Given the description of an element on the screen output the (x, y) to click on. 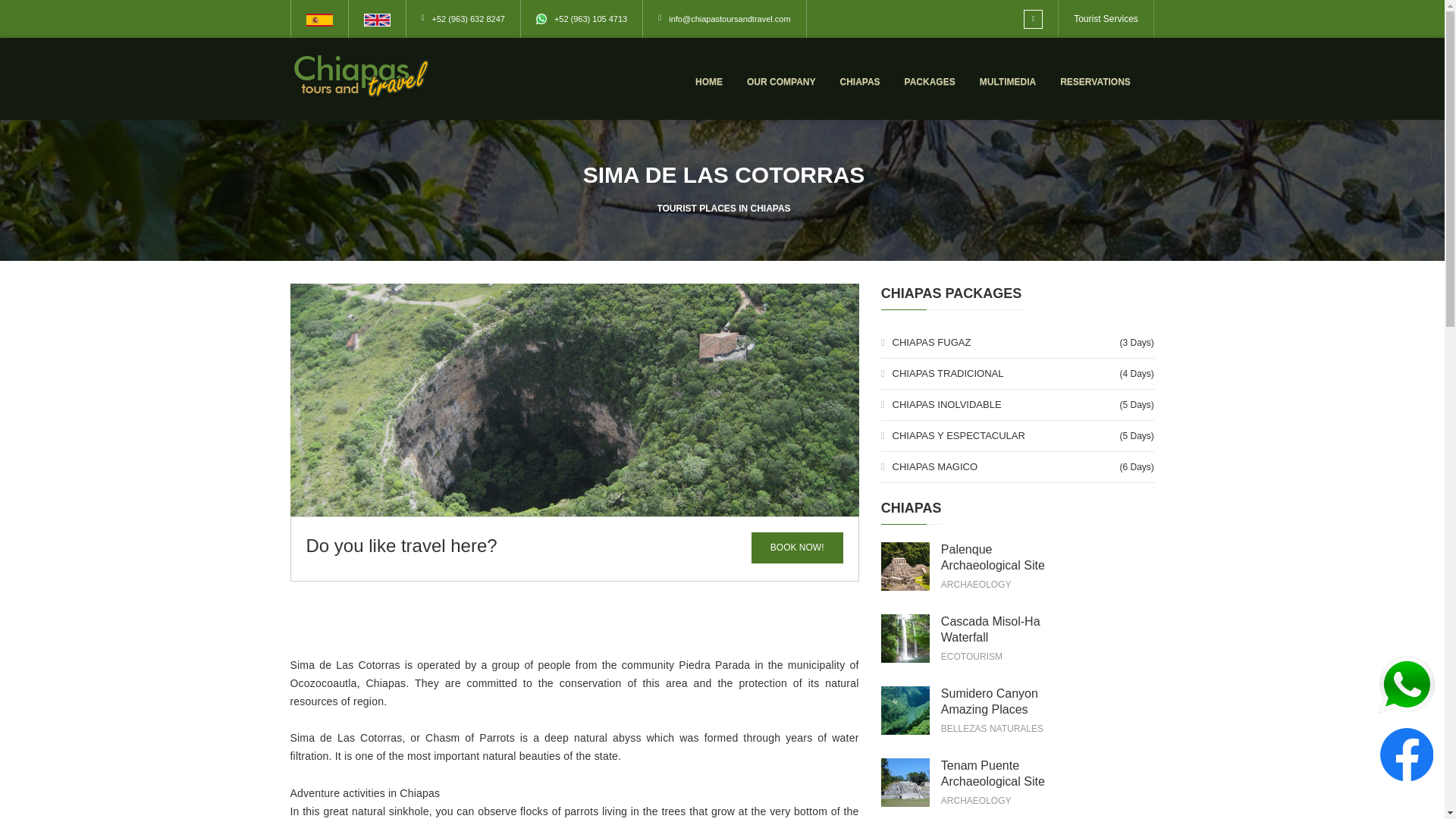
Tourist Services (1106, 18)
OUR COMPANY (780, 81)
CHIAPAS (859, 81)
HOME (708, 81)
